Given the description of an element on the screen output the (x, y) to click on. 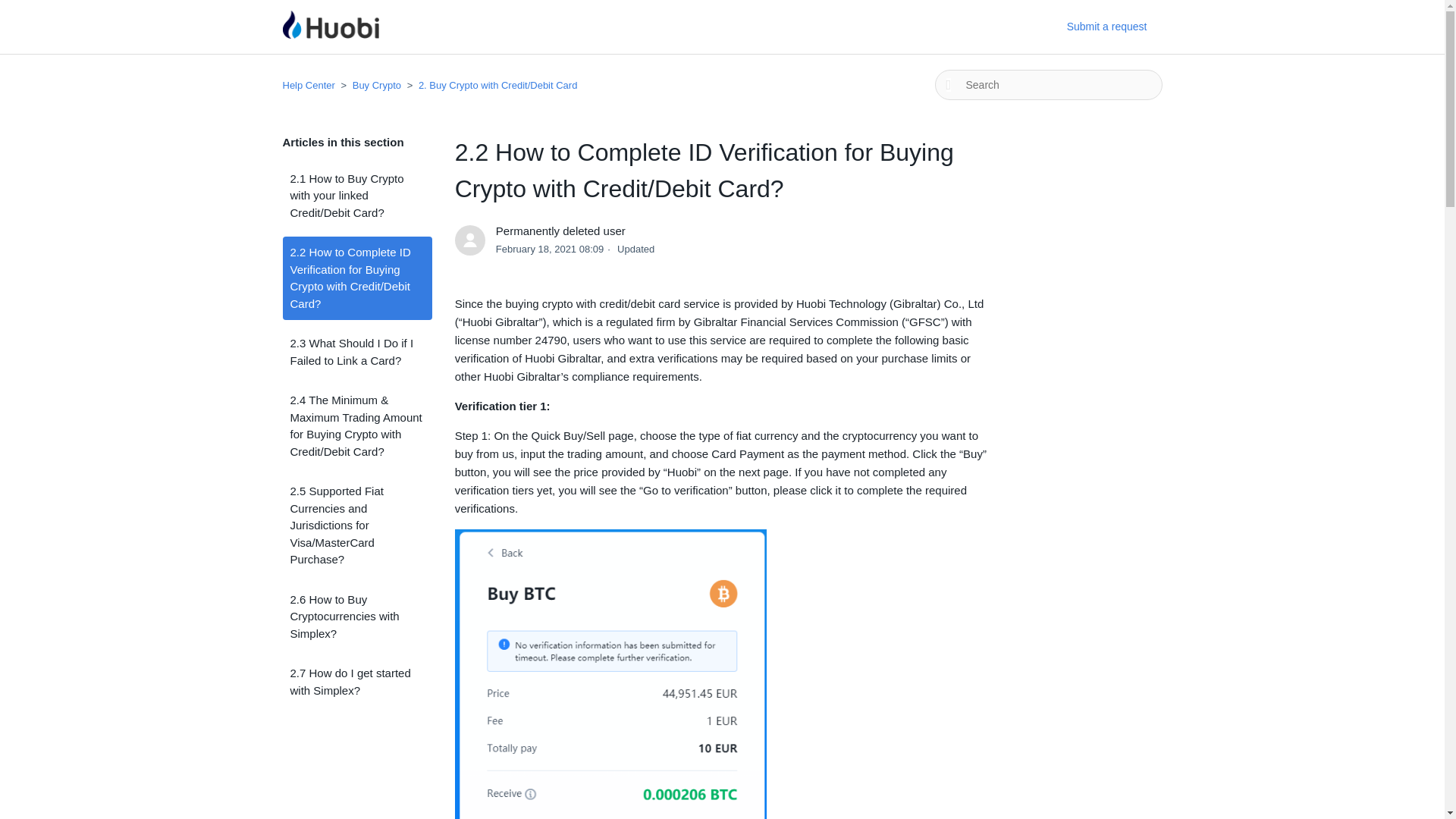
Help Center (309, 84)
2021-02-18T08:09:33Z (550, 248)
2.3 What Should I Do if I Failed to Link a Card? (356, 351)
Help Center (308, 84)
Buy Crypto (370, 84)
2.6 How to Buy Cryptocurrencies with Simplex? (356, 616)
Buy Crypto (376, 84)
2.7 How do I get started with Simplex? (356, 681)
Submit a request (1114, 26)
